Given the description of an element on the screen output the (x, y) to click on. 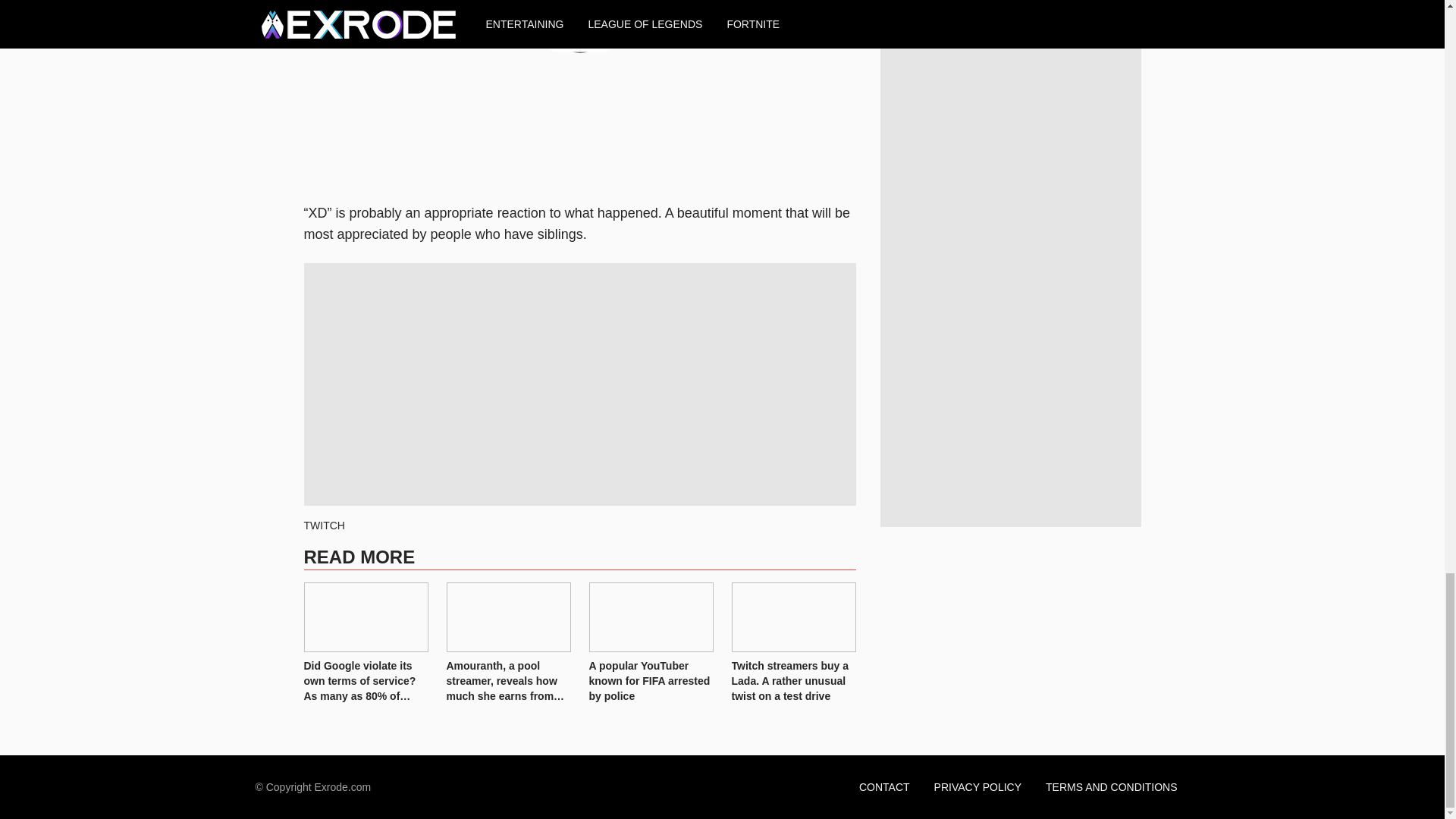
TERMS AND CONDITIONS (1111, 787)
A popular YouTuber known for FIFA arrested by police (650, 616)
TWITCH (322, 525)
A popular YouTuber known for FIFA arrested by police (650, 680)
PRIVACY POLICY (977, 787)
CONTACT (884, 787)
